Given the description of an element on the screen output the (x, y) to click on. 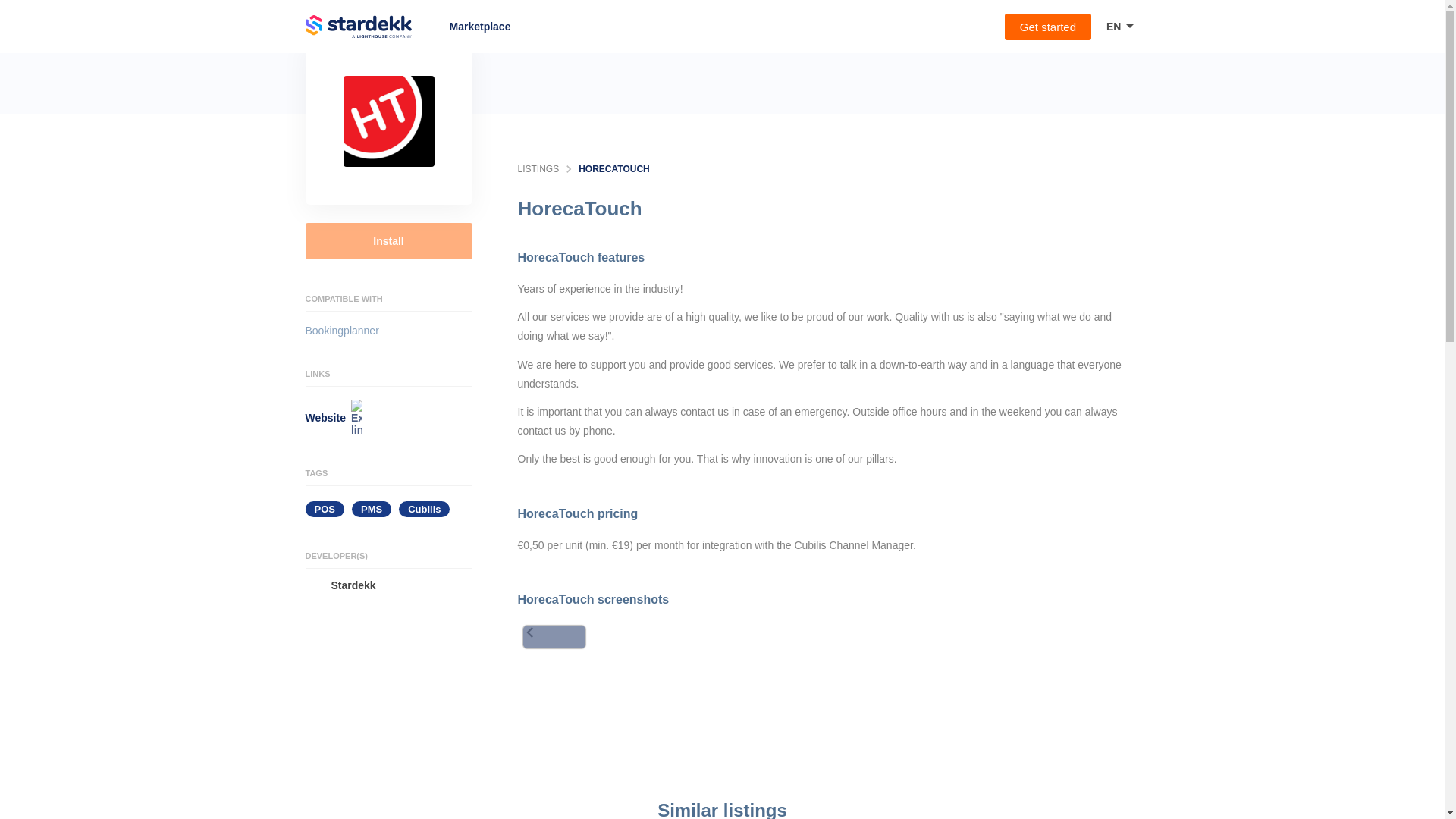
Get started (1047, 26)
Stardekk (372, 26)
Install (387, 240)
Website (387, 417)
Bookingplanner (341, 330)
POS (327, 516)
Marketplace (433, 26)
HorecaTouch (387, 121)
HORECATOUCH (613, 168)
PMS (375, 516)
Cubilis (427, 516)
Stardekk (387, 585)
LISTINGS (537, 168)
